Given the description of an element on the screen output the (x, y) to click on. 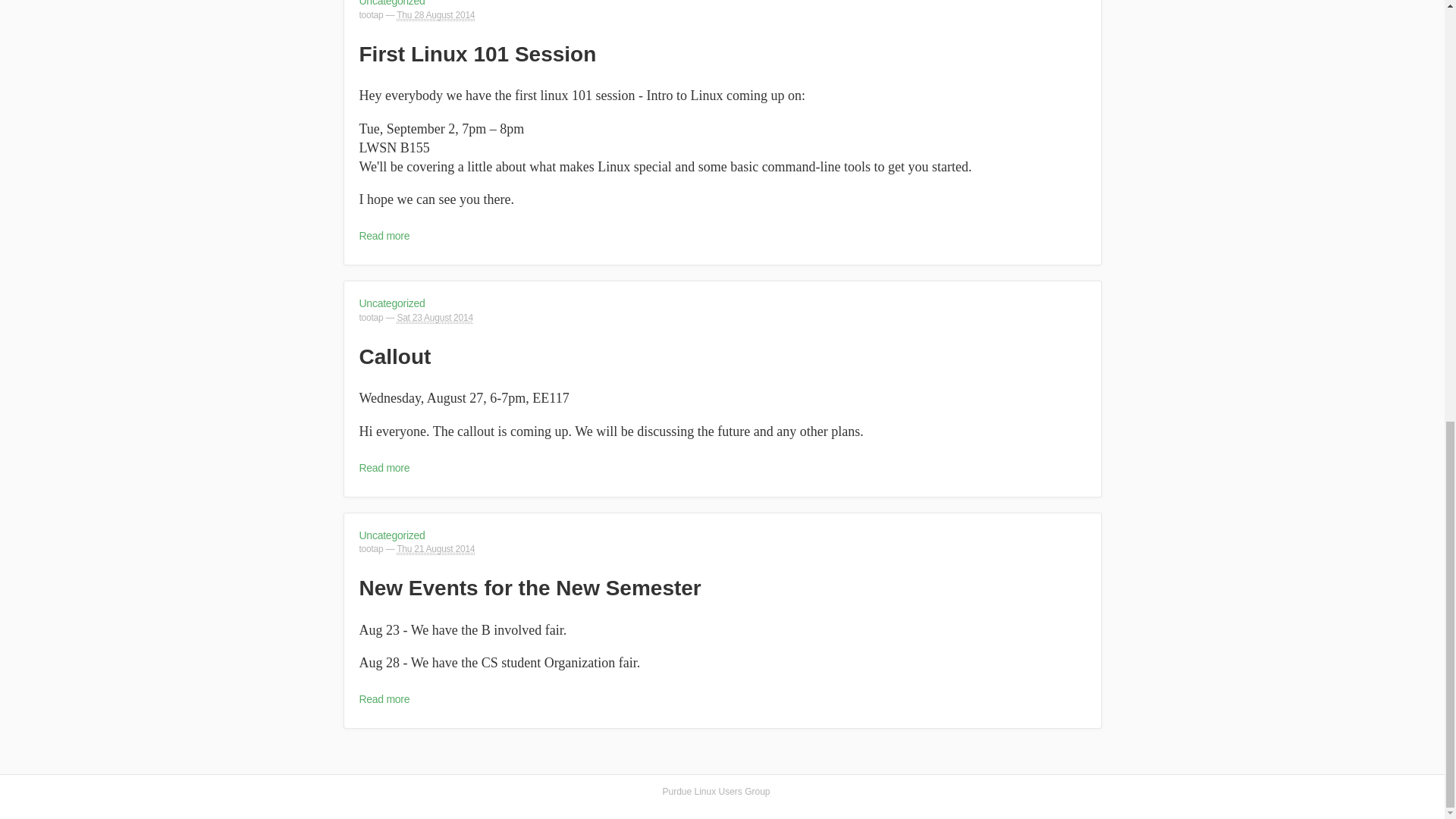
2014-08-23T16:47:00-04:00 (433, 317)
Read more (384, 467)
Callout (394, 356)
2014-08-21T12:19:00-04:00 (435, 549)
Permalink to New Events for the New Semester (530, 587)
Read more (384, 698)
Permalink to First Linux 101 Session (477, 54)
Uncategorized (392, 535)
Read more (384, 235)
First Linux 101 Session (477, 54)
Uncategorized (392, 303)
tootap (371, 317)
New Events for the New Semester (530, 587)
tootap (371, 548)
Purdue Linux Users Group (716, 791)
